Given the description of an element on the screen output the (x, y) to click on. 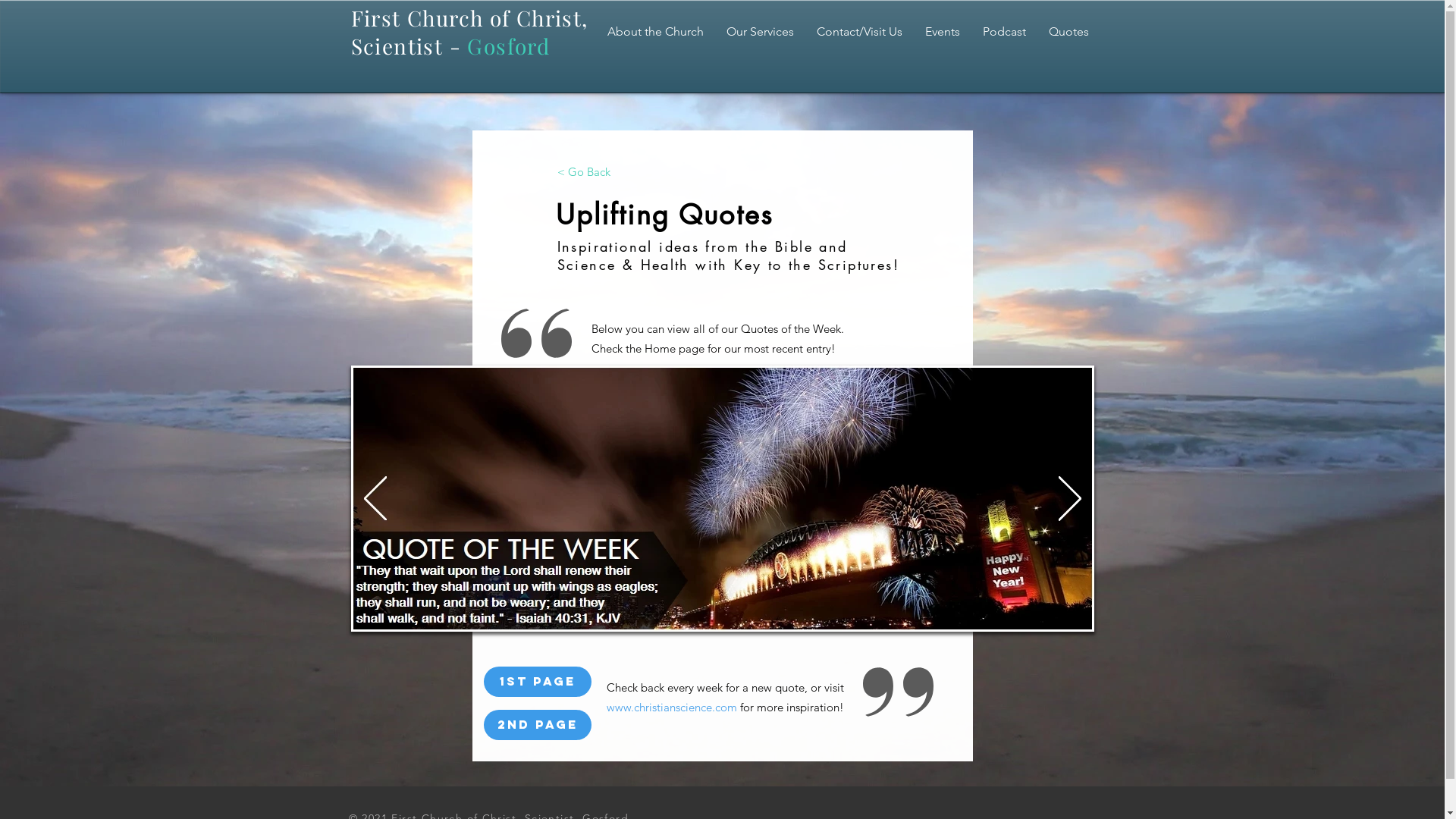
www.christianscience.com Element type: text (671, 706)
Events Element type: text (941, 31)
Our Services Element type: text (759, 31)
Contact/Visit Us Element type: text (859, 31)
1st page Element type: text (537, 681)
First Church of Christ, Scientist - Gosford Element type: text (468, 31)
Quotes Element type: text (1068, 31)
2nd page Element type: text (537, 724)
< Go Back Element type: text (583, 171)
Podcast Element type: text (1003, 31)
About the Church Element type: text (655, 31)
